Given the description of an element on the screen output the (x, y) to click on. 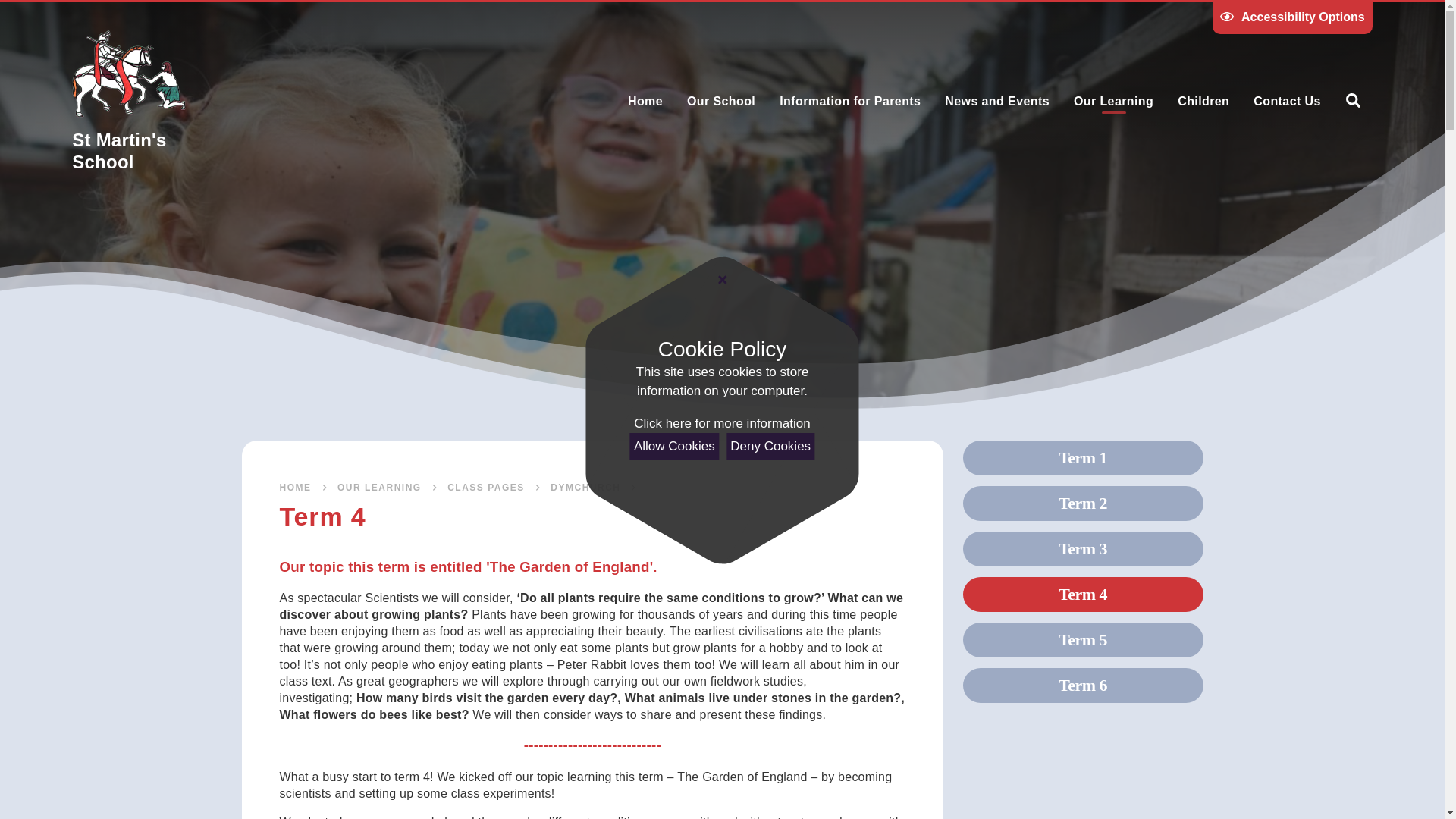
Accessibility Options (1292, 17)
C (1324, 50)
C (1263, 50)
Home (645, 101)
C (1294, 50)
C (1233, 50)
Our School (721, 101)
Information for Parents (850, 101)
